Given the description of an element on the screen output the (x, y) to click on. 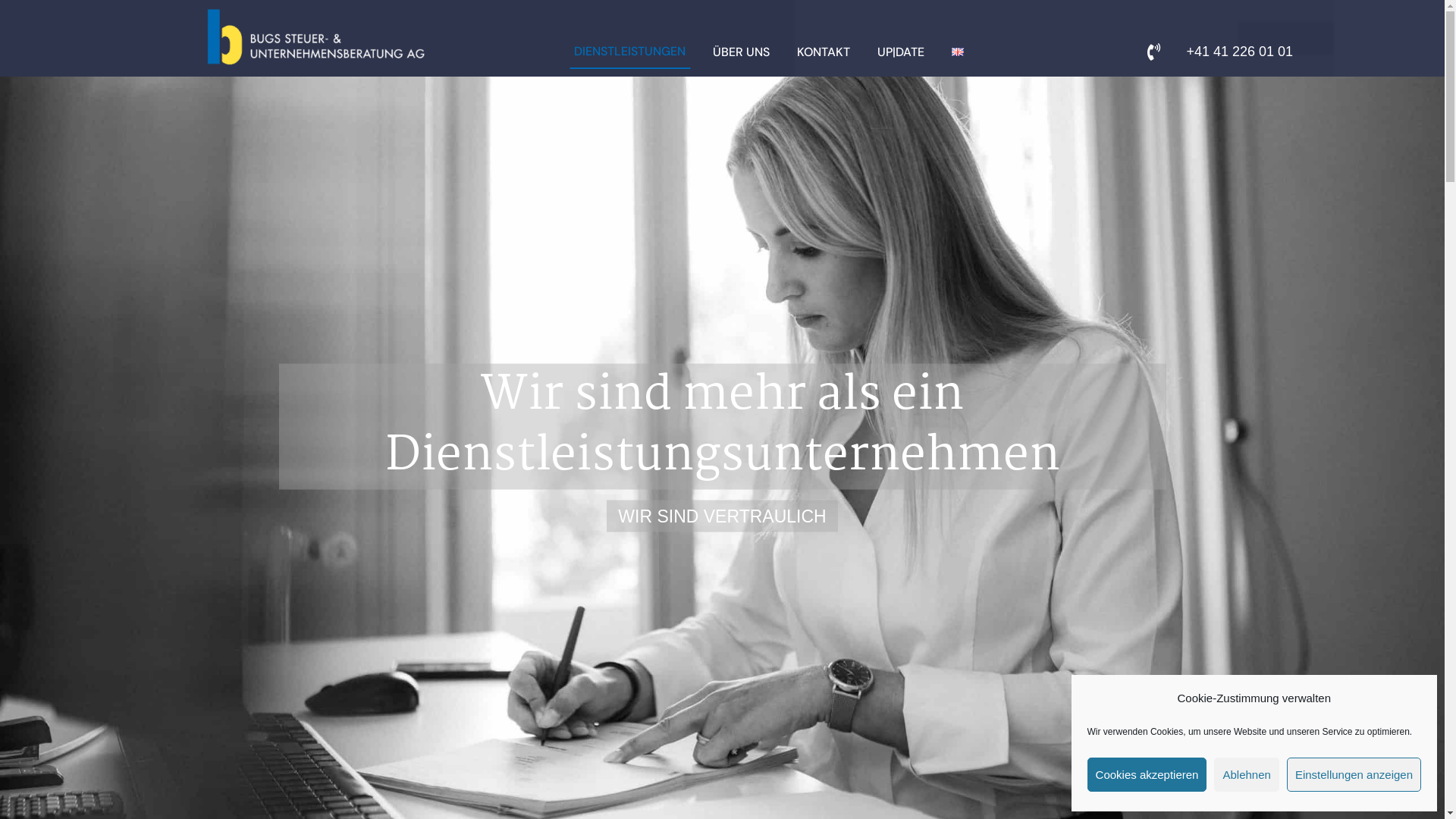
UP|DATE Element type: text (900, 52)
Cookies akzeptieren Element type: text (1147, 774)
Ablehnen Element type: text (1246, 774)
+41 41 226 01 01 Element type: text (1239, 51)
DIENSTLEISTUNGEN Element type: text (629, 52)
KONTAKT Element type: text (823, 52)
Einstellungen anzeigen Element type: text (1353, 774)
